Given the description of an element on the screen output the (x, y) to click on. 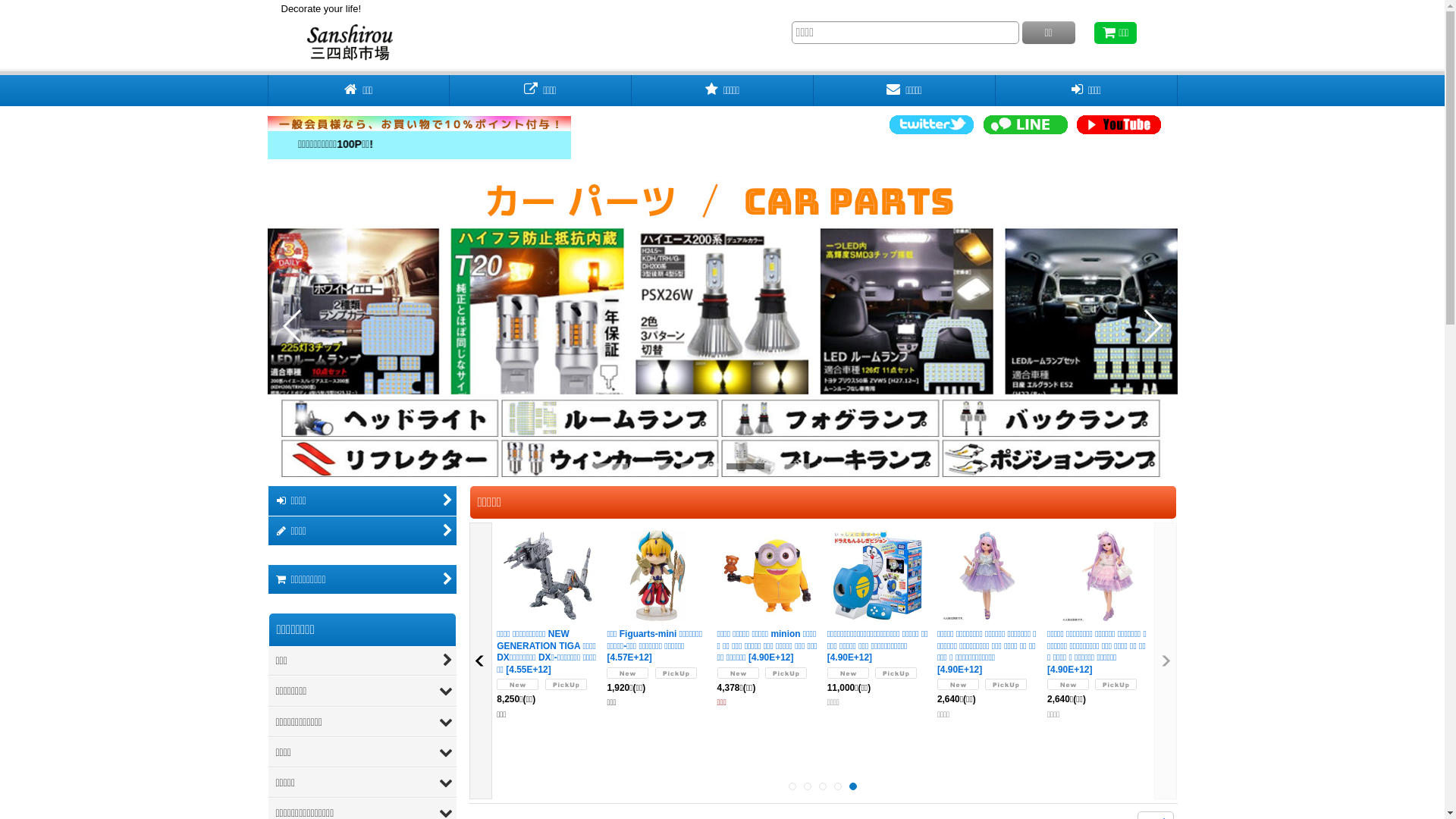
YouTube video player Element type: hover (736, 136)
